Given the description of an element on the screen output the (x, y) to click on. 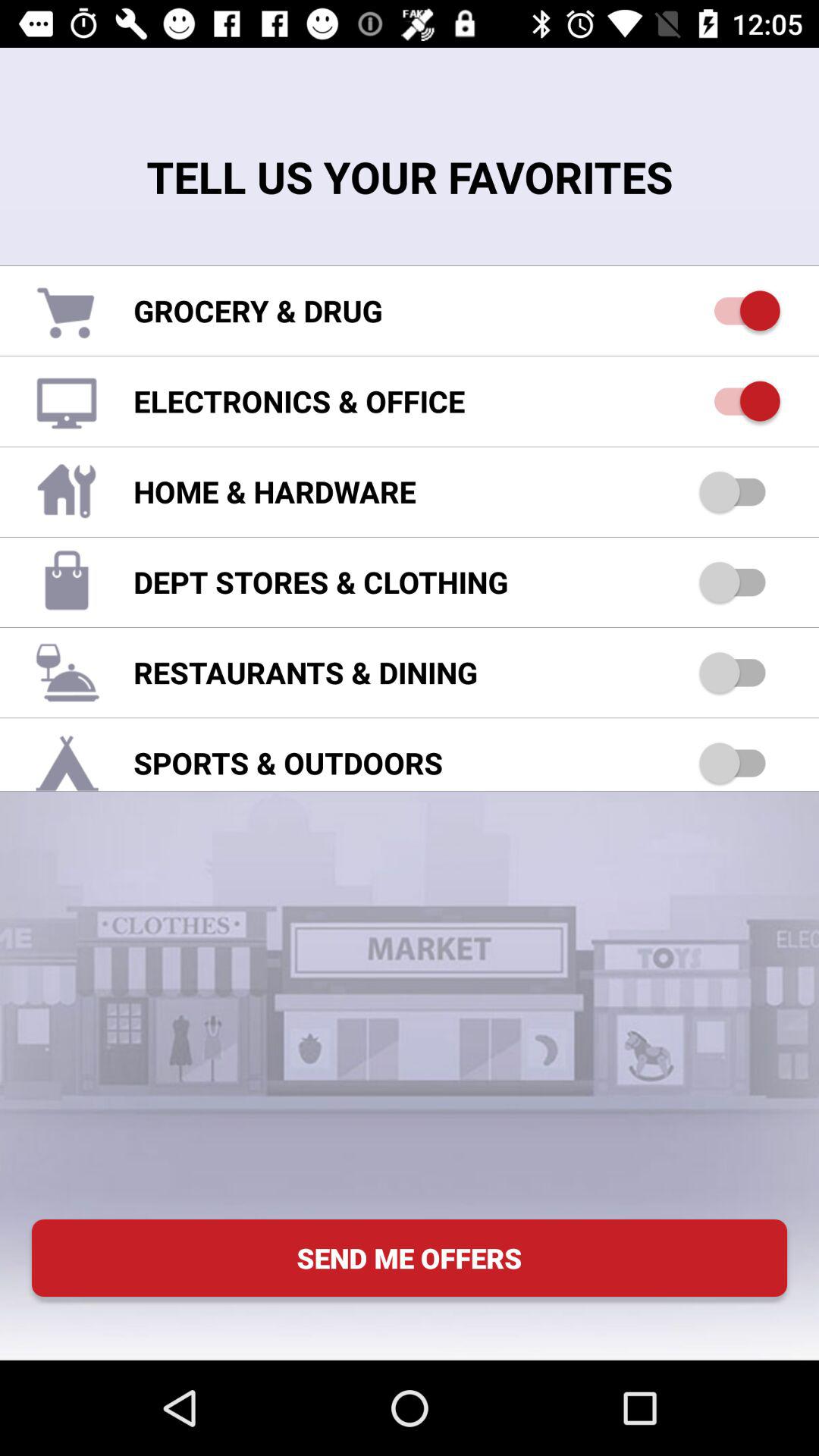
toggle home hardware option (739, 491)
